Given the description of an element on the screen output the (x, y) to click on. 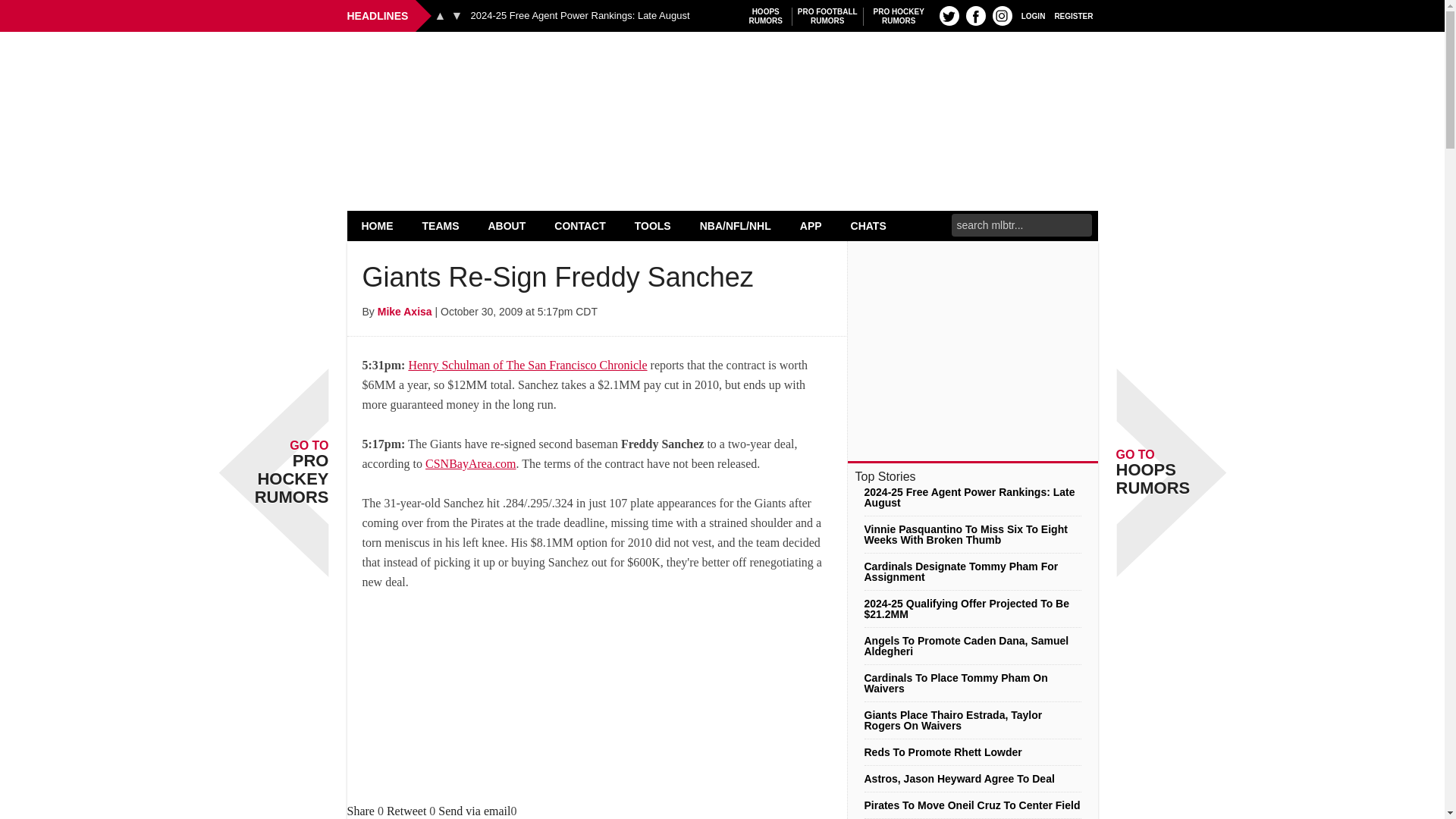
TEAMS (827, 16)
Twitter profile (440, 225)
Retweet 'Giants Re-Sign Freddy Sanchez' on Twitter (949, 15)
Share 'Giants Re-Sign Freddy Sanchez' on Facebook (406, 810)
MLB Trade Rumors (360, 810)
FB profile (722, 69)
LOGIN (975, 15)
HOME (1032, 15)
2024-25 Free Agent Power Rankings: Late August (377, 225)
